Given the description of an element on the screen output the (x, y) to click on. 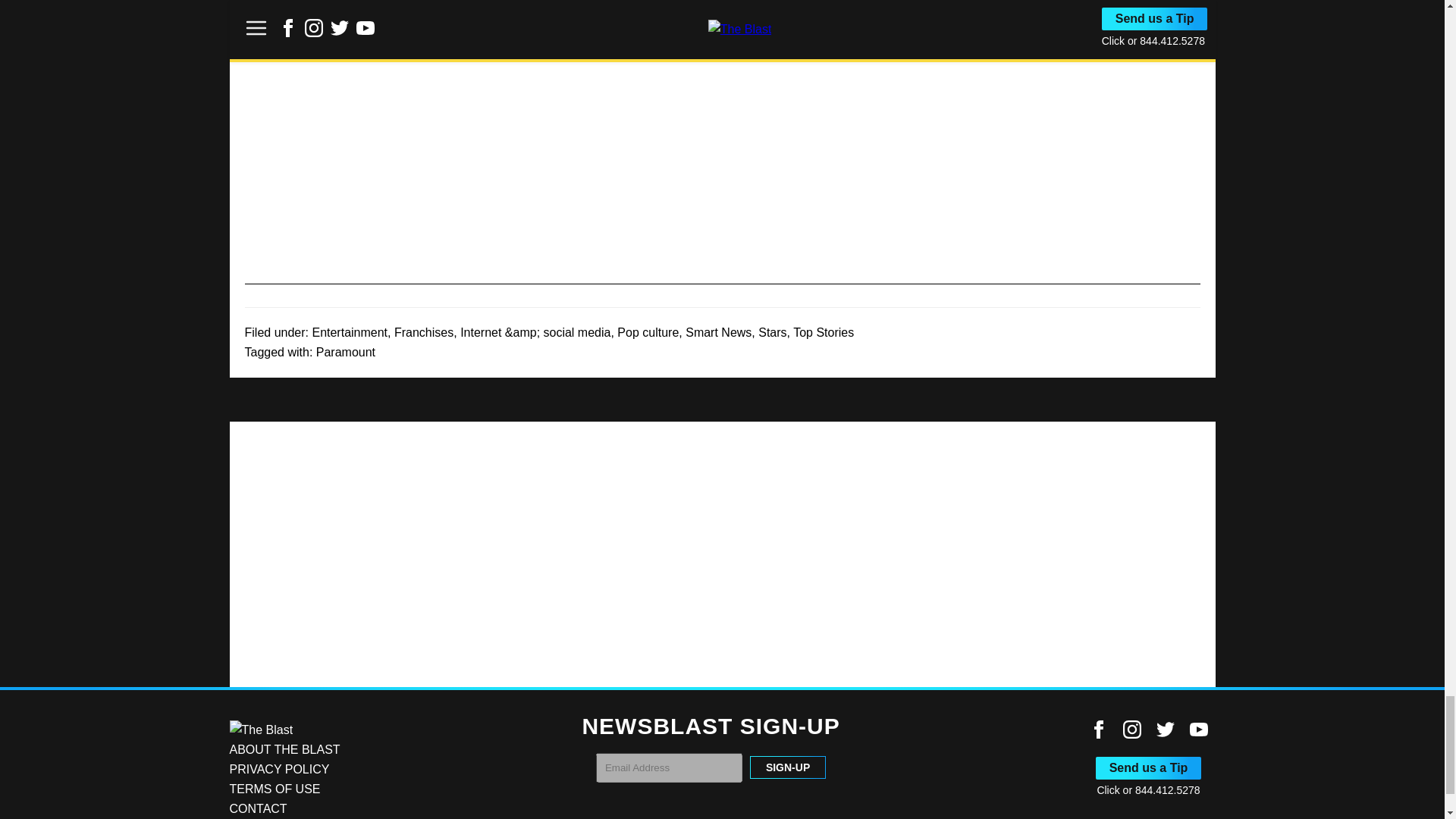
SIGN-UP (787, 766)
SIGN-UP (787, 766)
Link to Twitter (1164, 729)
Stars (772, 332)
Entertainment (349, 332)
Pop culture (647, 332)
TERMS OF USE (274, 788)
Link to Facebook (1097, 729)
Link to Youtube (1198, 729)
Top Stories (823, 332)
